Given the description of an element on the screen output the (x, y) to click on. 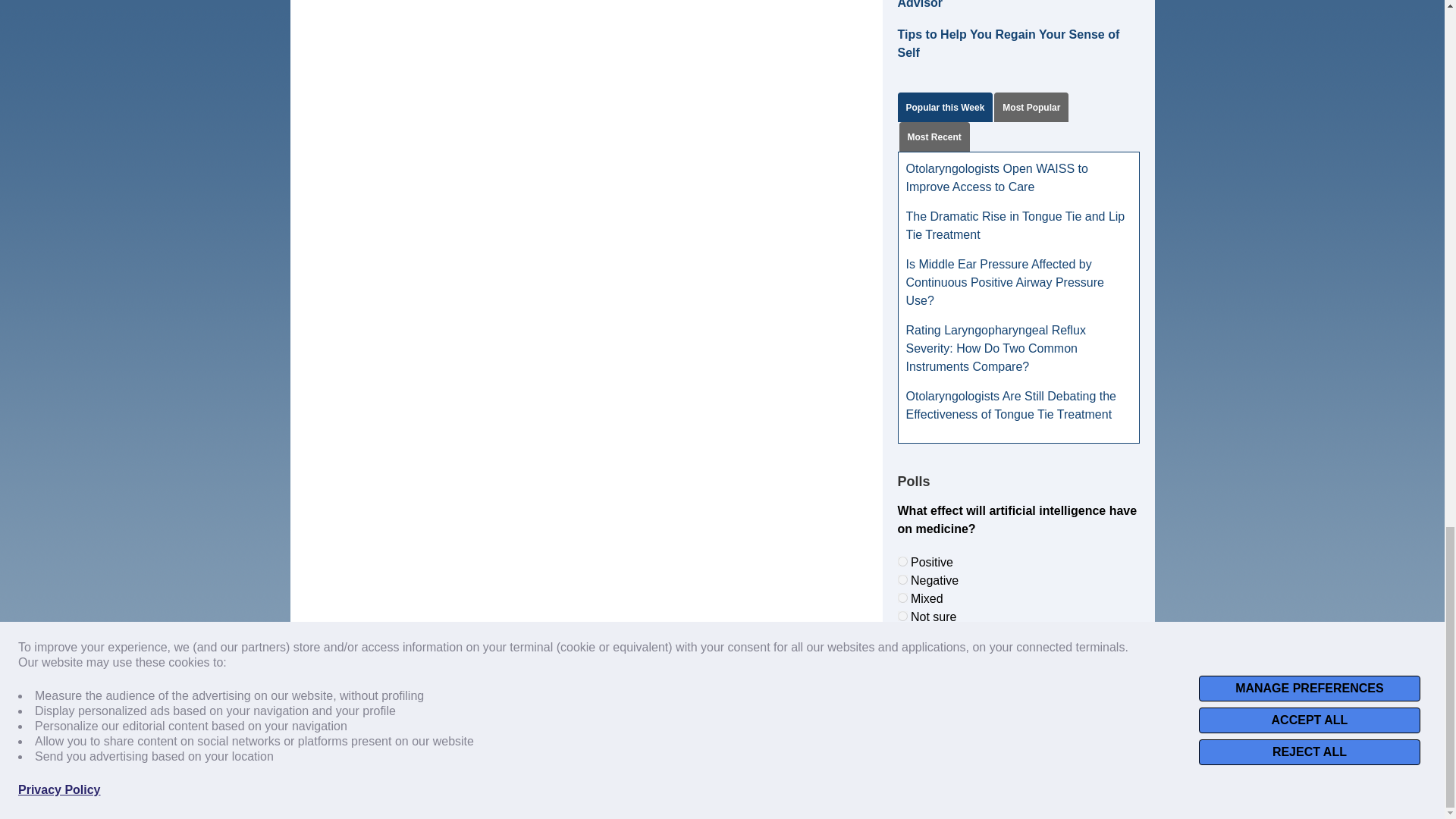
307 (902, 615)
   Vote    (1017, 651)
305 (902, 579)
304 (902, 561)
306 (902, 597)
